Given the description of an element on the screen output the (x, y) to click on. 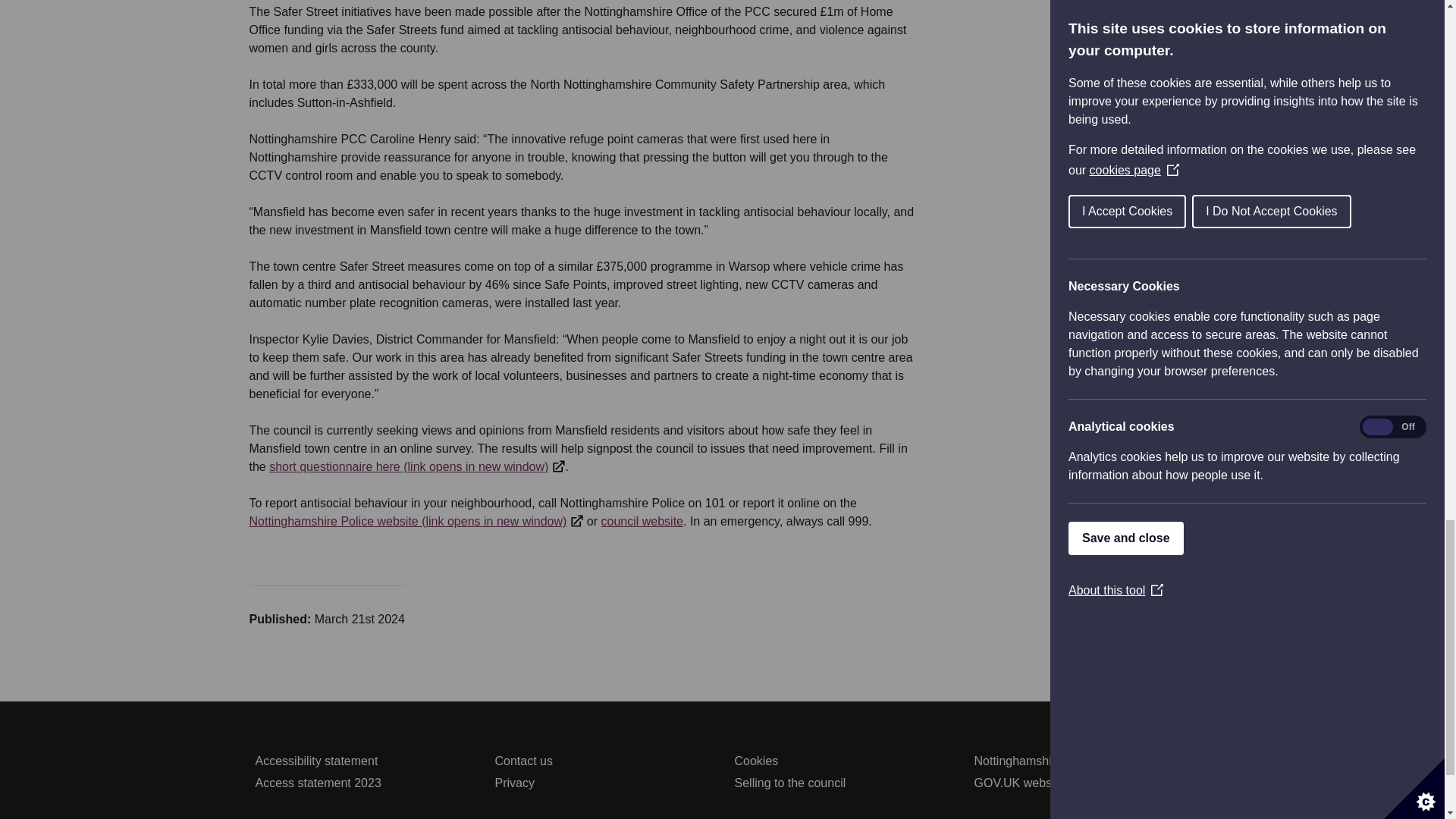
Twitter (743, 817)
Facebook (691, 817)
